Given the description of an element on the screen output the (x, y) to click on. 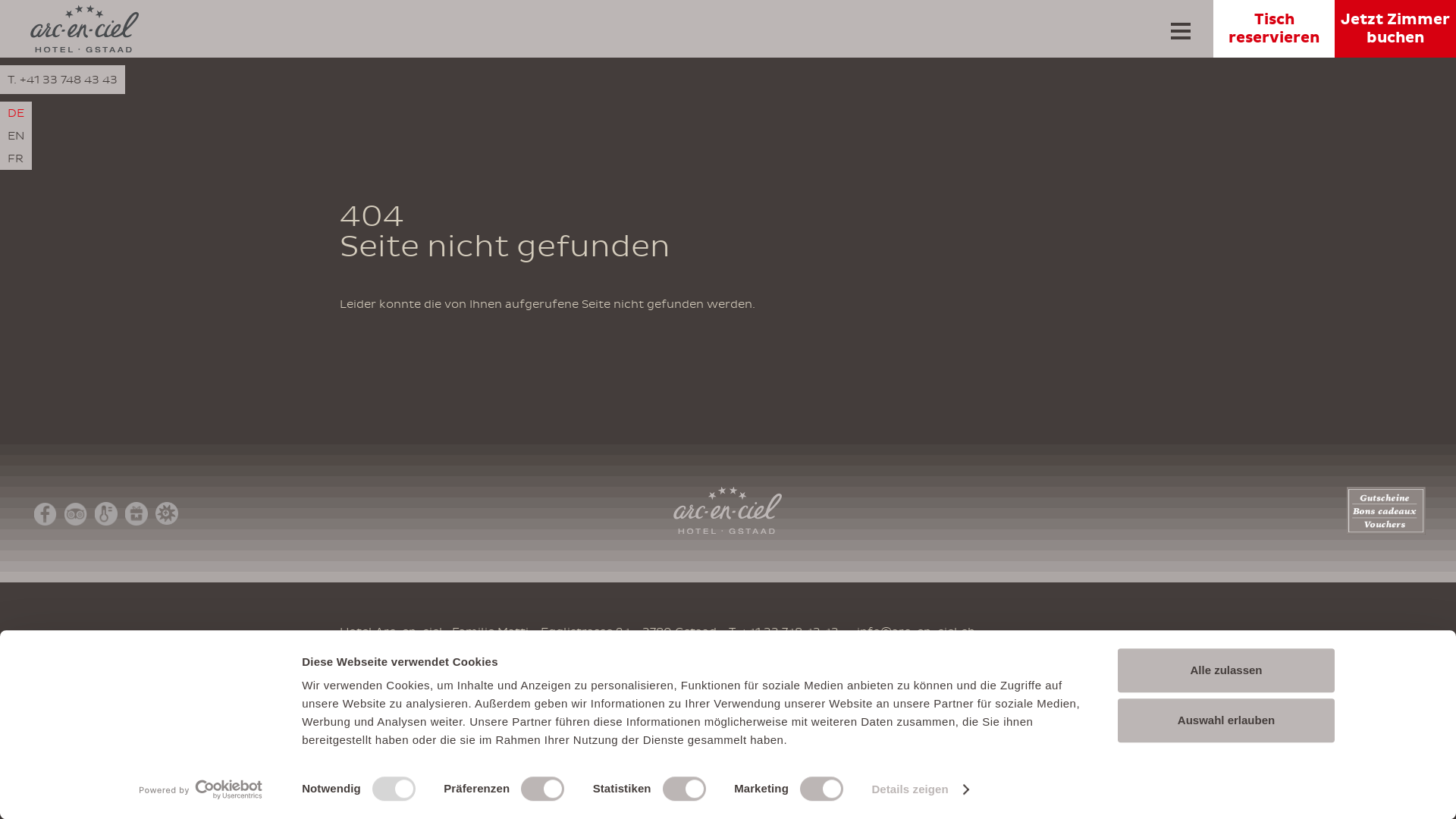
Facebook Element type: hover (45, 513)
Tisch reservieren Element type: text (1273, 28)
Gstaad Element type: text (695, 631)
Impressum Element type: text (682, 664)
Tripadvisor Element type: hover (75, 513)
gstaad Element type: hover (166, 513)
Alle zulassen Element type: text (1225, 670)
voucher Element type: hover (136, 513)
EN Element type: text (15, 135)
FR Element type: text (15, 158)
Auswahl erlauben Element type: text (1225, 720)
T. +41 33 748 43 43 Element type: text (62, 79)
Datenschutz Element type: text (768, 664)
arc-en-ciel.ch Element type: hover (84, 48)
barometer Element type: hover (105, 513)
DE Element type: text (15, 112)
Details zeigen Element type: text (919, 789)
